Given the description of an element on the screen output the (x, y) to click on. 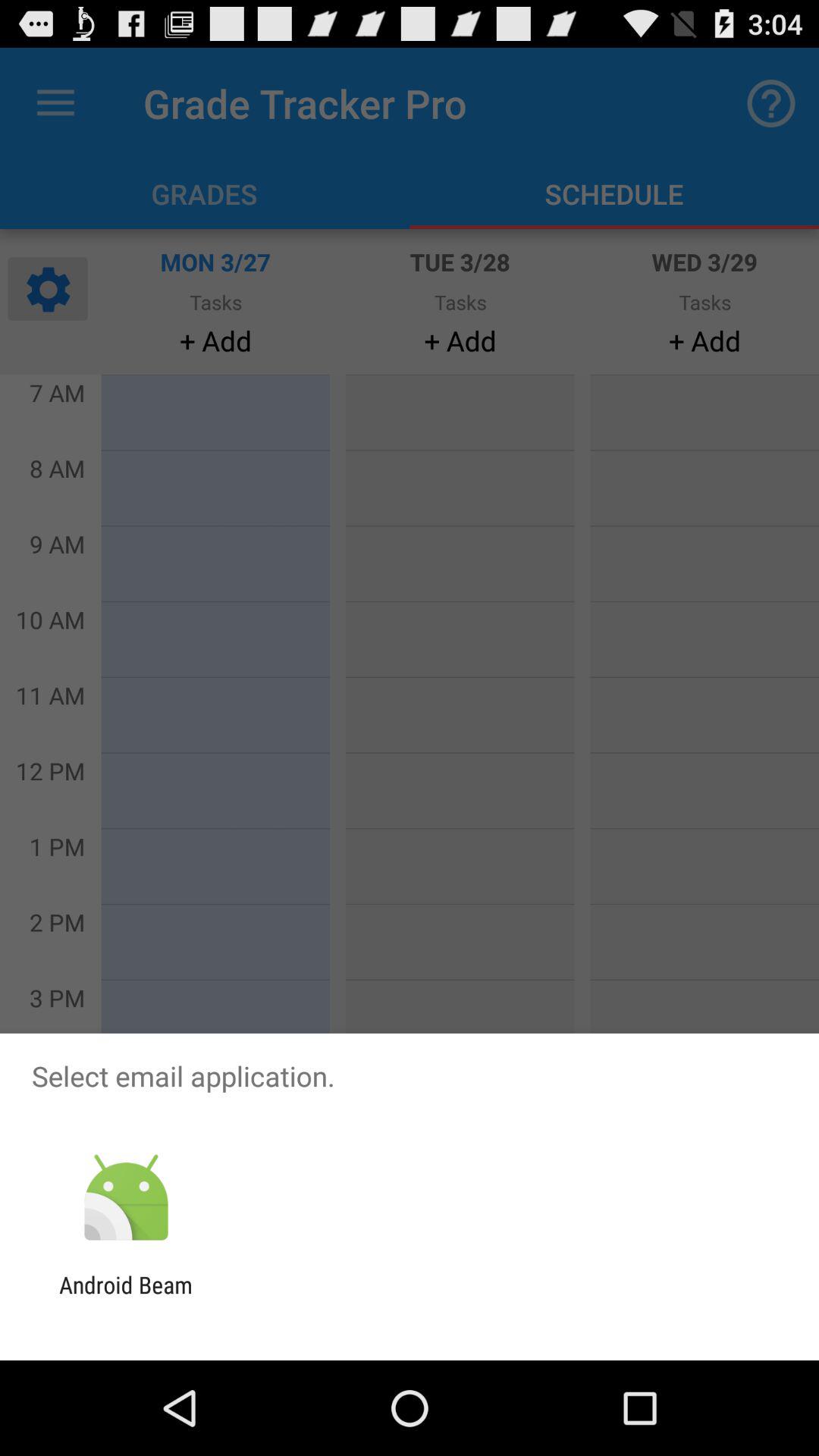
swipe until the android beam app (125, 1298)
